Given the description of an element on the screen output the (x, y) to click on. 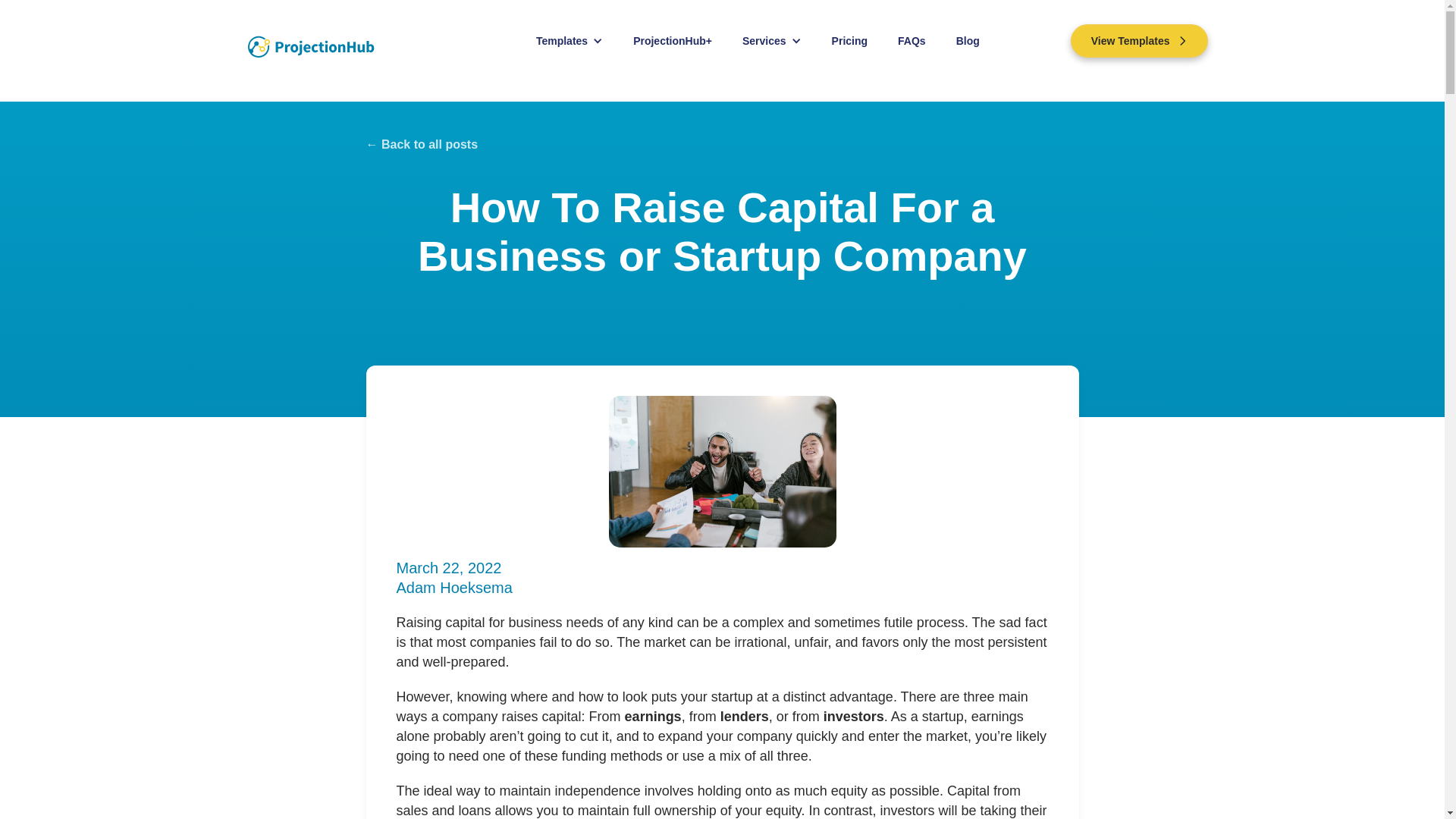
FAQs (911, 40)
Blog (967, 40)
View Templates (1139, 40)
financial projections templates (764, 40)
financial projections templates (561, 40)
Pricing (849, 40)
Business Financial Projections Templates Subscription (671, 40)
